Given the description of an element on the screen output the (x, y) to click on. 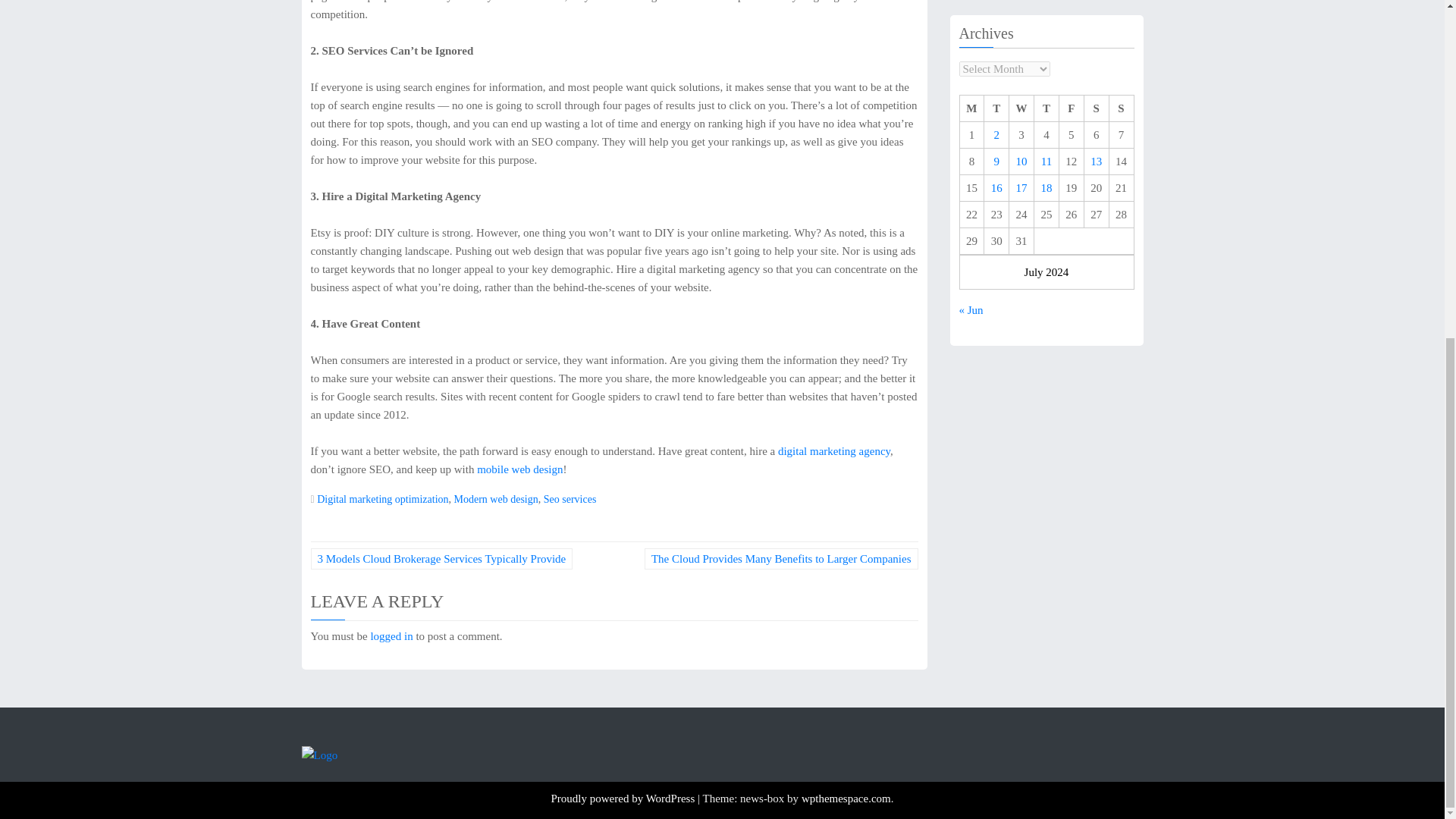
wpthemespace.com (846, 798)
Digital marketing optimization (382, 499)
Modern web design (496, 499)
Proudly powered by WordPress (623, 798)
Seo services (569, 499)
The Cloud Provides Many Benefits to Larger Companies (781, 558)
mobile web design (519, 469)
digital marketing agency (833, 451)
Graphic design carlsbad, Seo strategies (519, 469)
3 Models Cloud Brokerage Services Typically Provide (442, 558)
logged in (390, 635)
Read on the topic of Graphic design (833, 451)
